Given the description of an element on the screen output the (x, y) to click on. 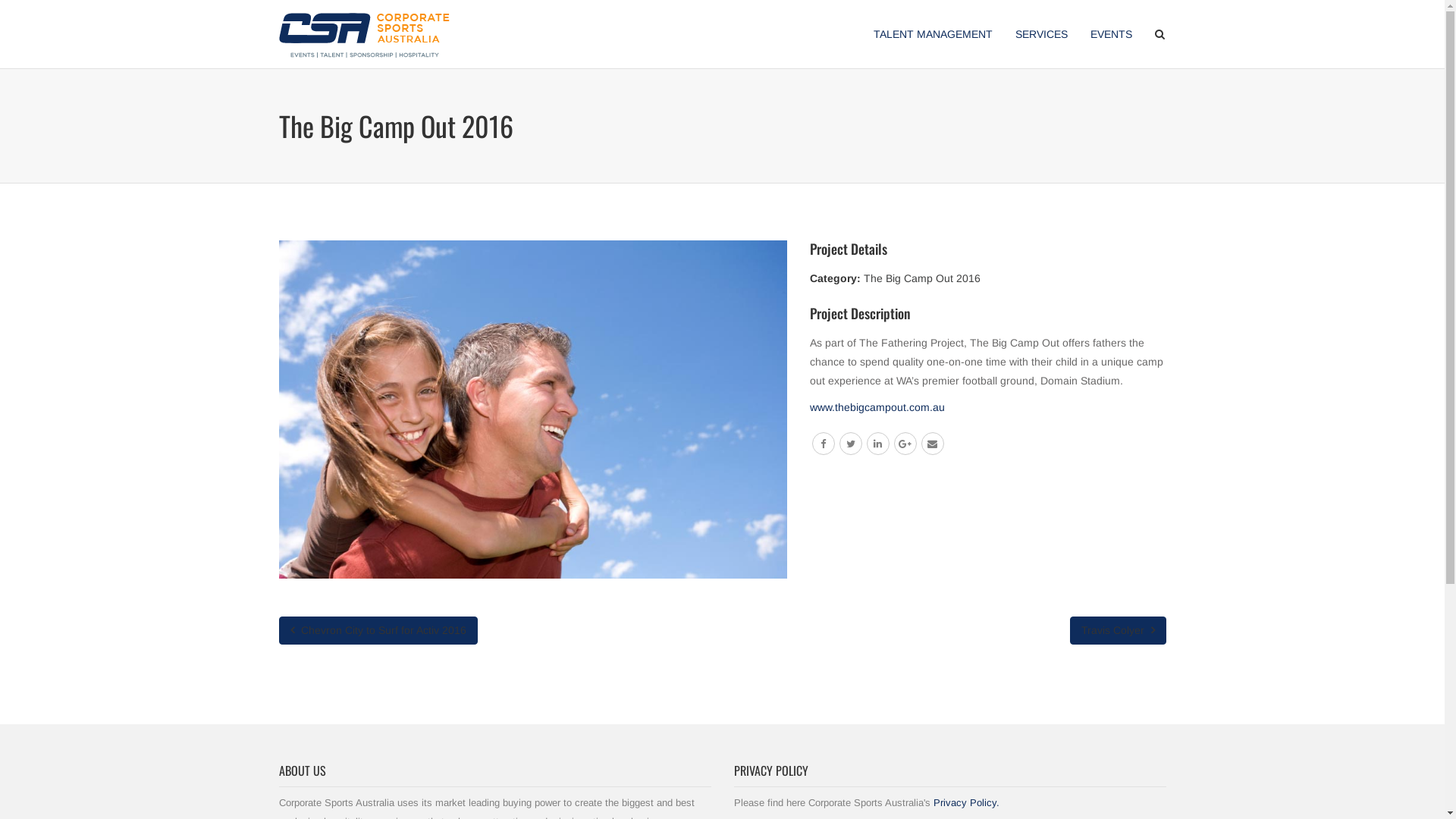
facebook Element type: hover (822, 443)
EVENTS Element type: text (1110, 34)
SERVICES Element type: text (1041, 34)
Corporate Sports Australia - Corporate Sports Australia Element type: hover (363, 34)
www.thebigcampout.com.au Element type: text (876, 407)
Privacy Policy. Element type: text (965, 802)
The Big Camp Out 2016 Element type: text (920, 278)
TALENT MANAGEMENT Element type: text (932, 34)
Chevron City to Surf for Activ 2016 Element type: text (378, 630)
twitter Element type: hover (849, 443)
Travis Colyer Element type: text (1117, 630)
